Given the description of an element on the screen output the (x, y) to click on. 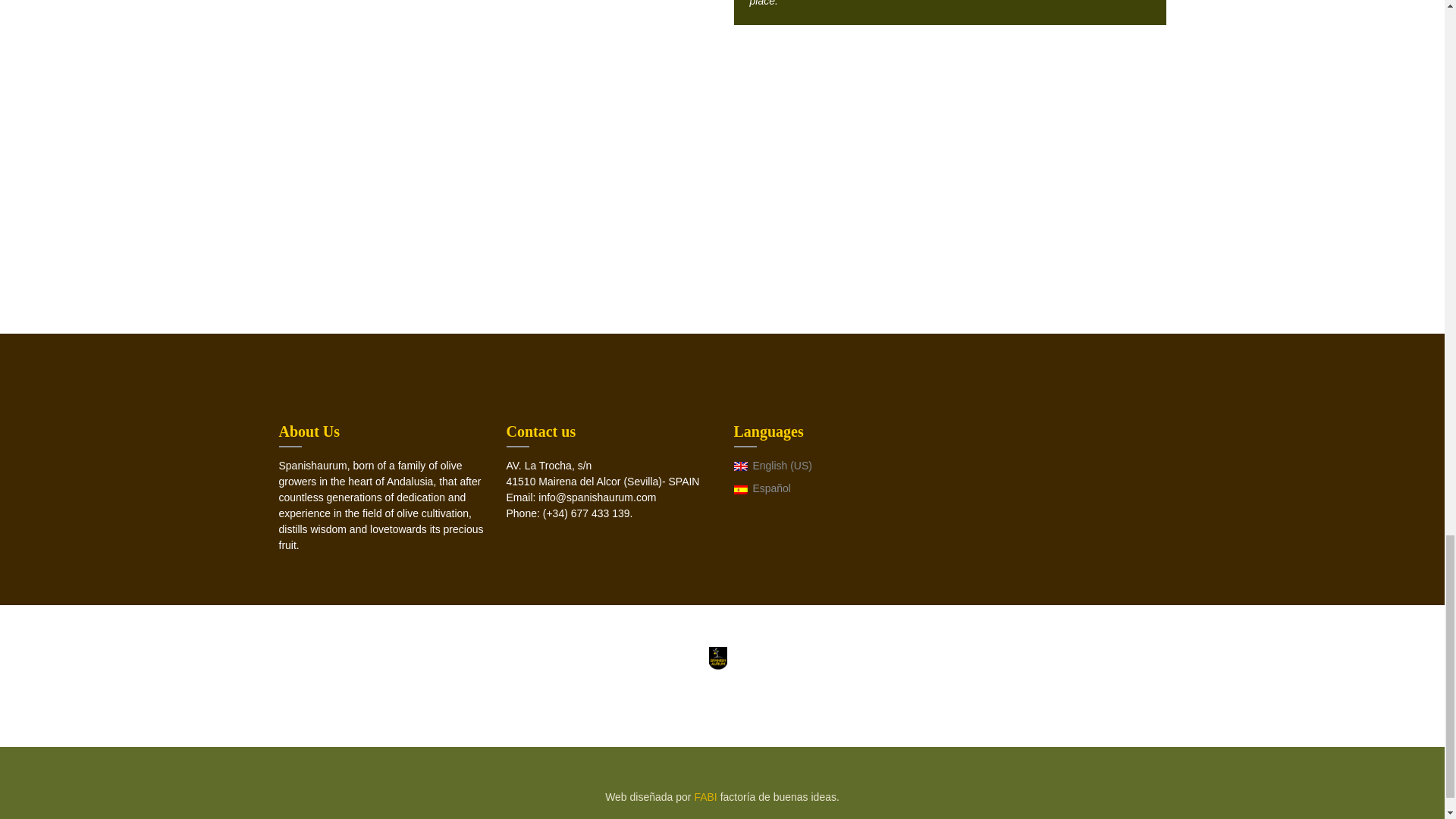
FABI (706, 797)
